Given the description of an element on the screen output the (x, y) to click on. 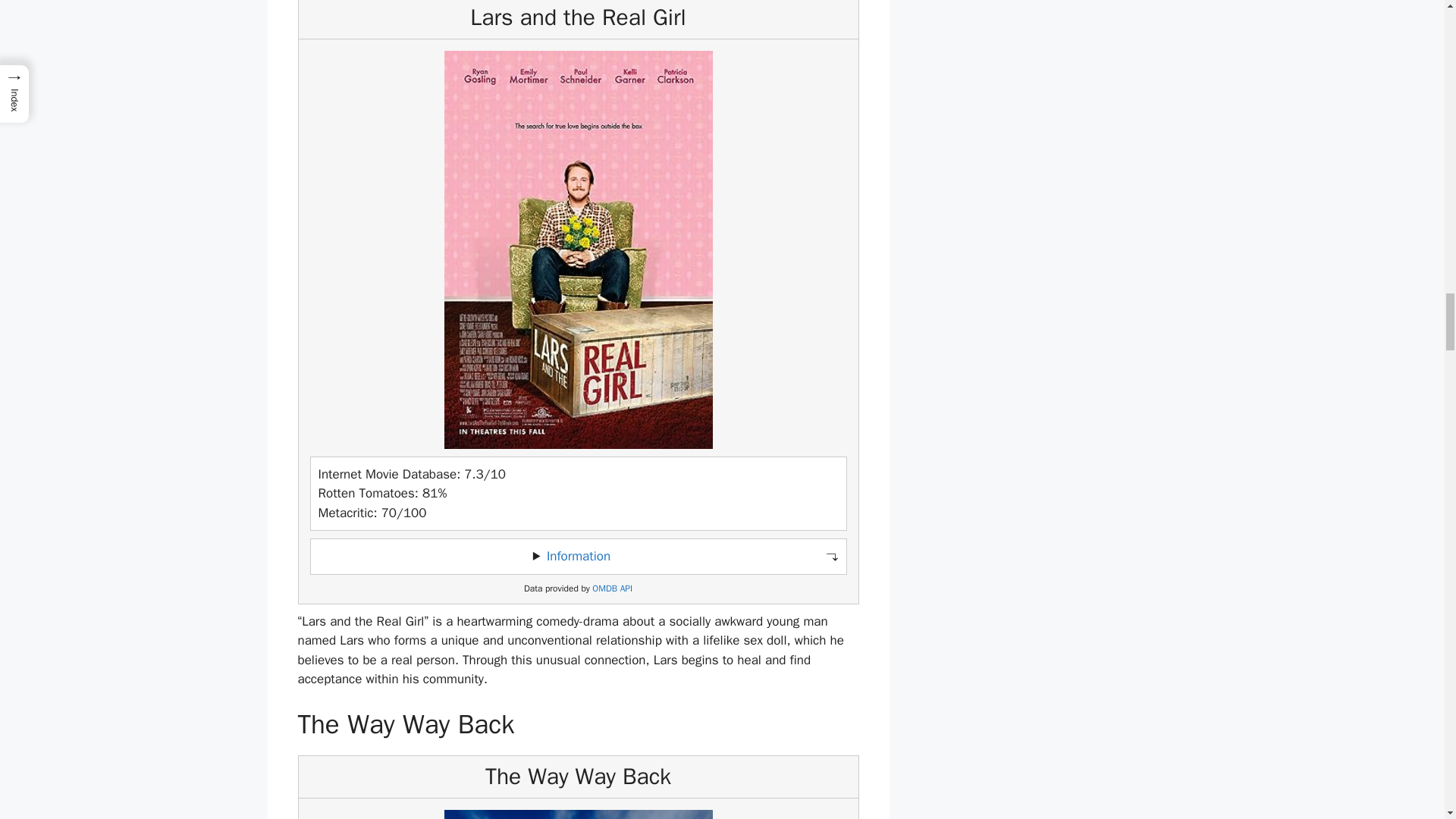
Open Movie Database API (611, 588)
OMDB API (611, 588)
Information (578, 555)
Toggle information (578, 556)
